Given the description of an element on the screen output the (x, y) to click on. 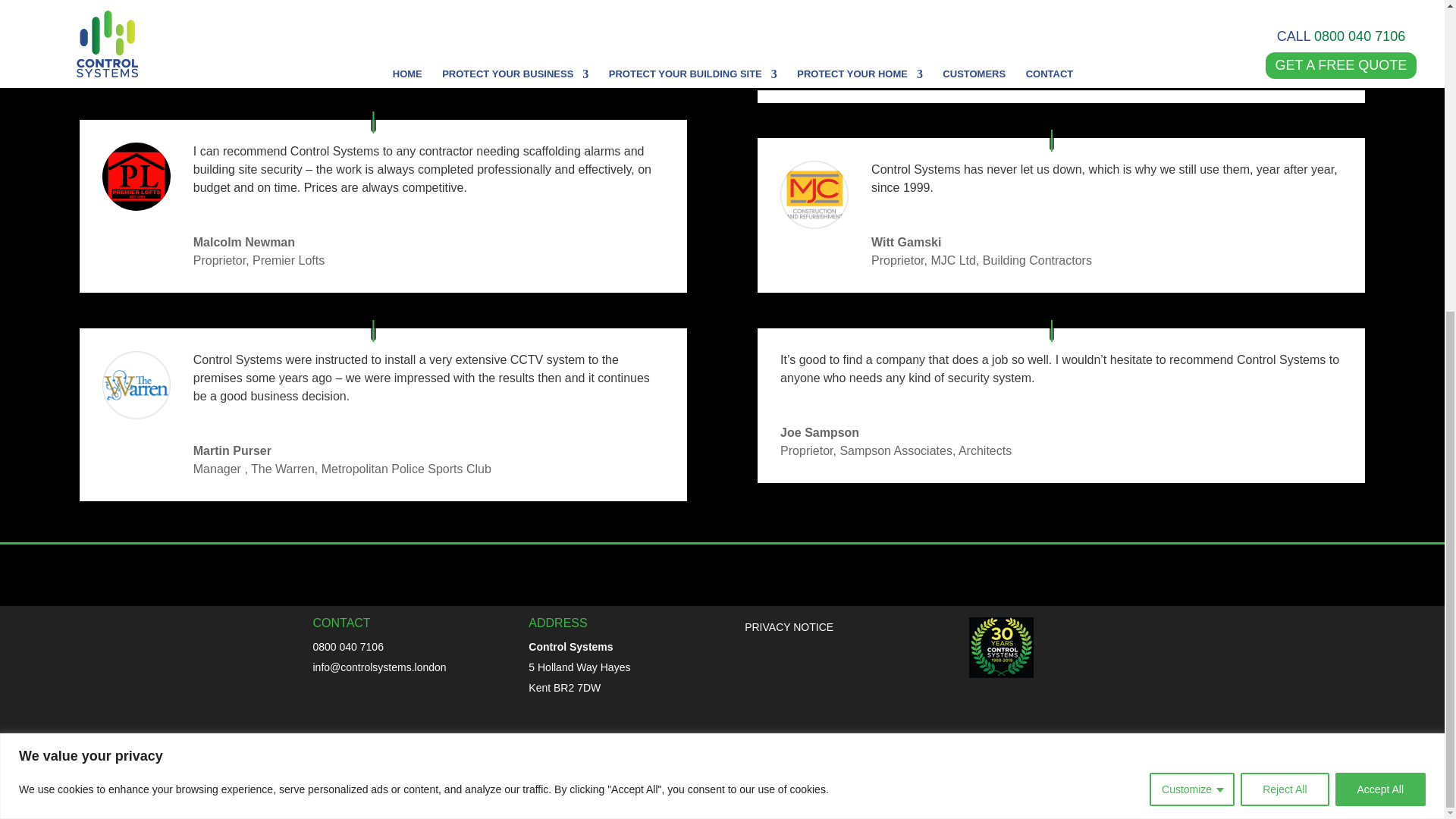
Customize (1192, 292)
Accept All (1380, 292)
Reject All (1283, 292)
